Given the description of an element on the screen output the (x, y) to click on. 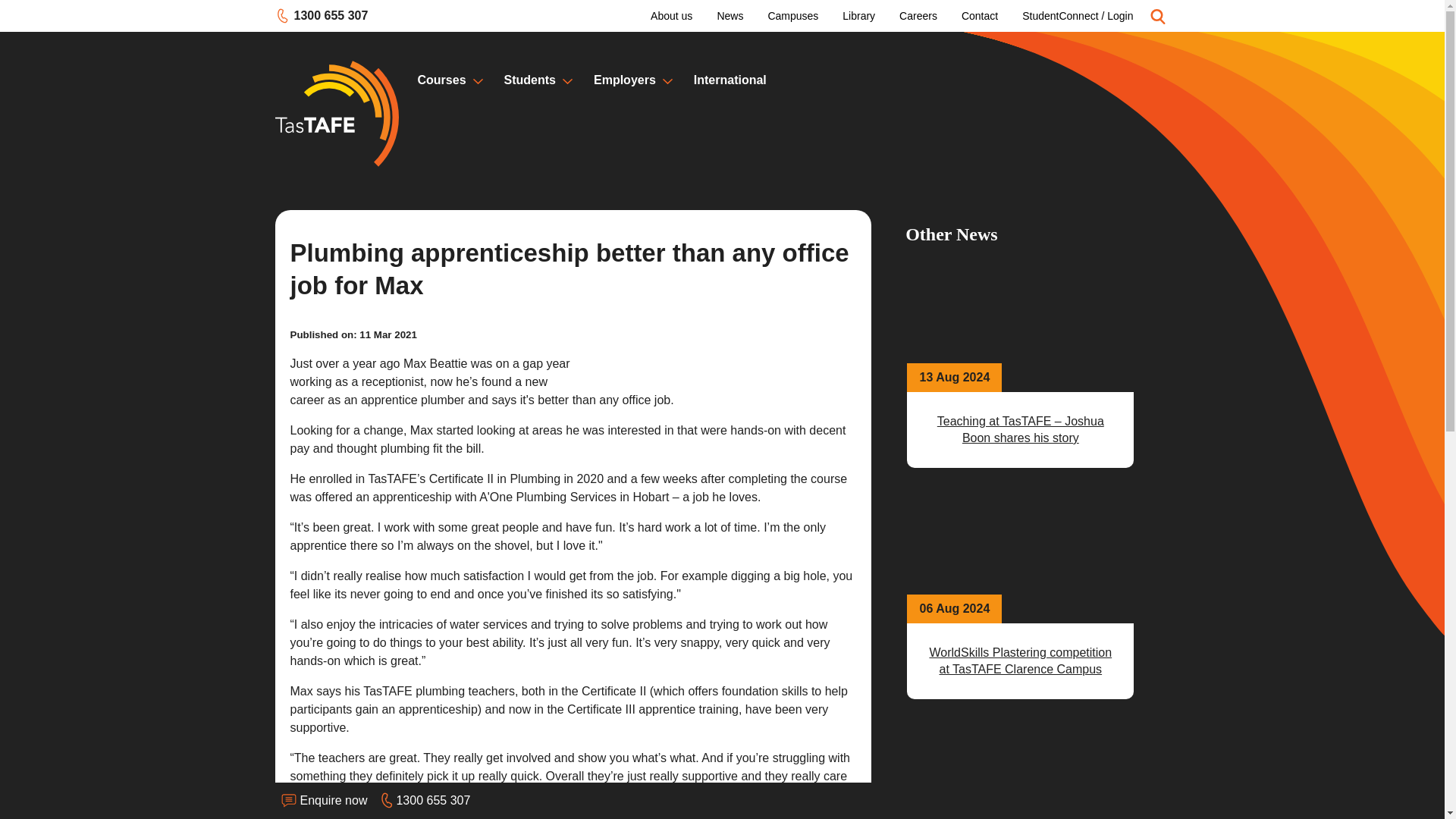
Library (857, 16)
News (729, 16)
Campuses (792, 16)
About us (321, 15)
Contact (671, 16)
Courses (979, 16)
Careers (441, 79)
Students (917, 16)
